Given the description of an element on the screen output the (x, y) to click on. 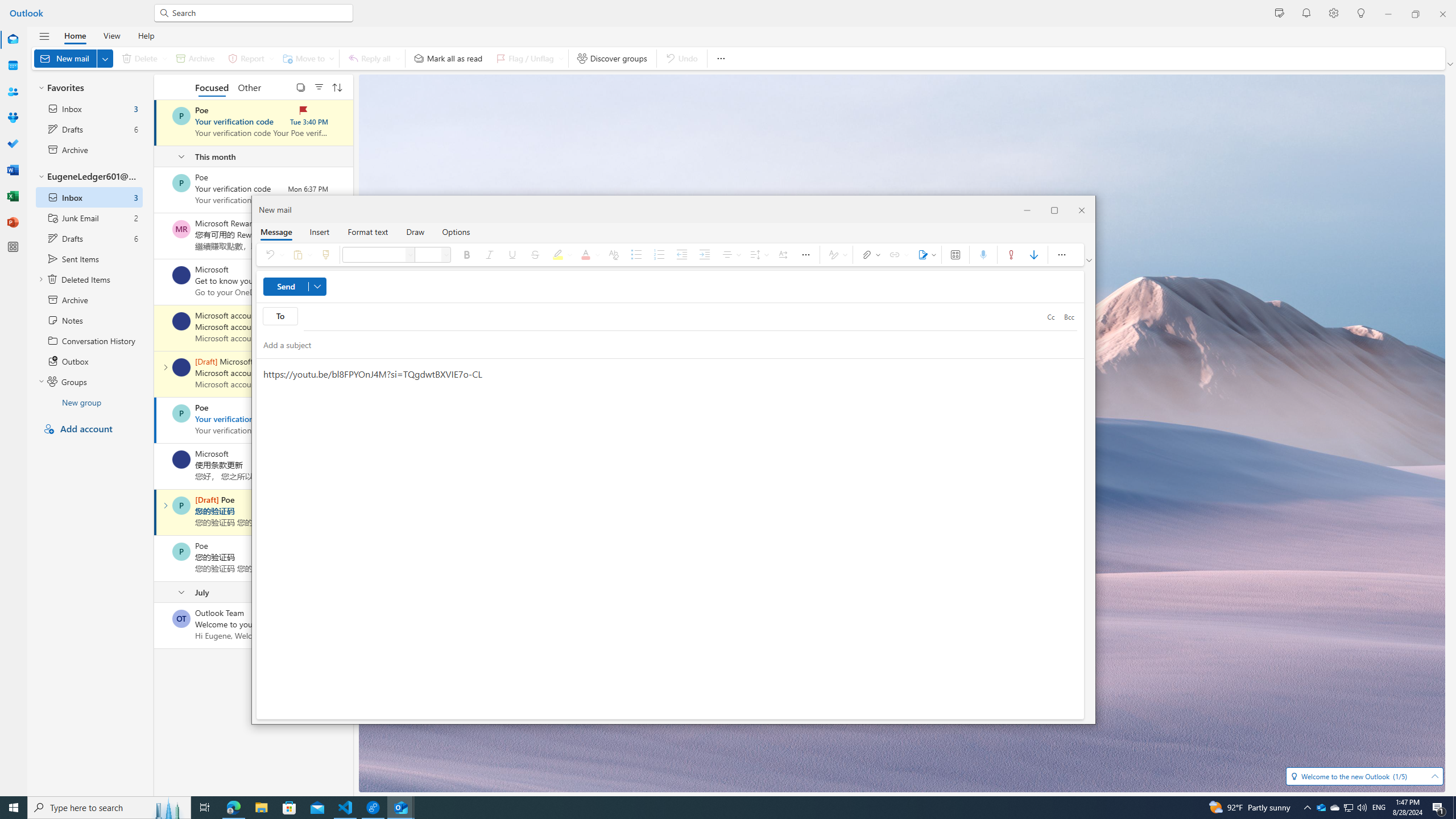
Q2790: 100% (1361, 807)
Flag / Unflag (527, 58)
Cc (1050, 316)
Calendar (12, 65)
Left-to-right (782, 254)
Insert (319, 231)
Filter (318, 86)
Running applications (700, 807)
Poe (180, 551)
Move to (306, 58)
PowerPoint (12, 222)
Bold (467, 254)
Microsoft Outlook (1320, 807)
Edge Feedback - 1 running window (373, 807)
